Given the description of an element on the screen output the (x, y) to click on. 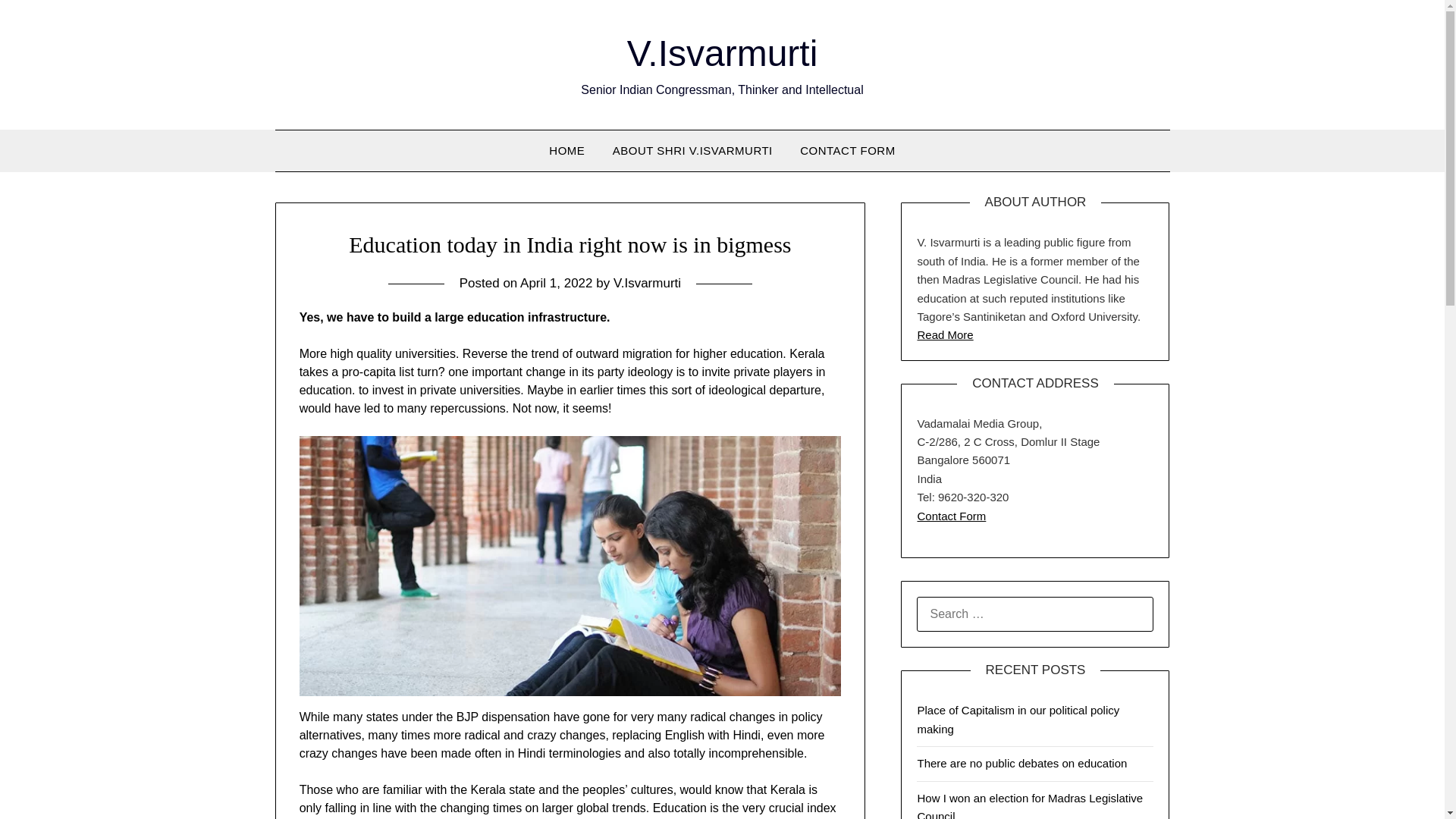
Read More (944, 334)
V.Isvarmurti (646, 283)
V.Isvarmurti (722, 53)
April 1, 2022 (555, 283)
ABOUT SHRI V.ISVARMURTI (691, 150)
Contact Form (951, 515)
CONTACT FORM (847, 150)
Search (38, 22)
HOME (566, 150)
How I won an election for Madras Legislative Council (1029, 805)
